Given the description of an element on the screen output the (x, y) to click on. 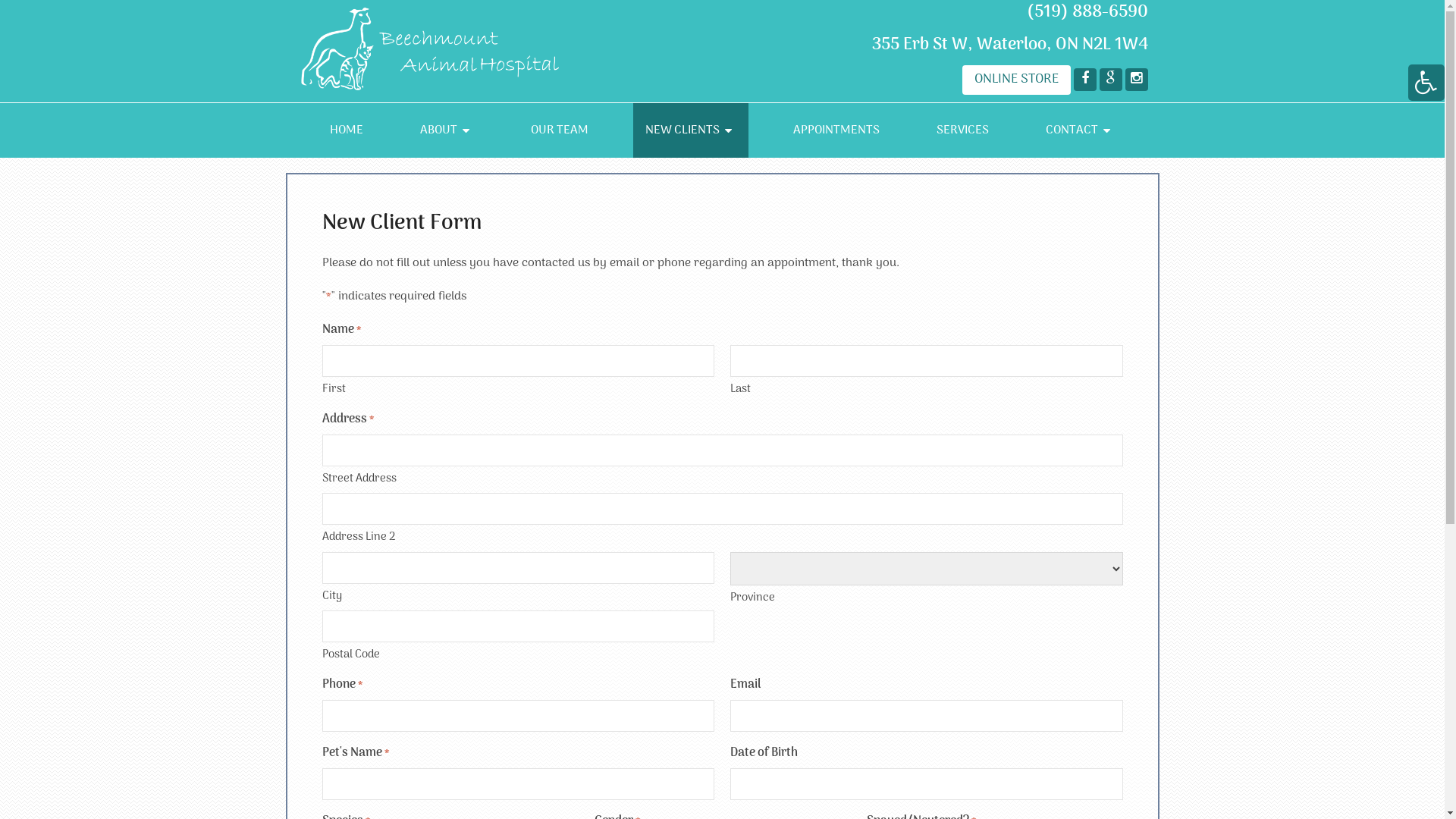
APPOINTMENTS Element type: text (836, 130)
Accessibility Helper sidebar Element type: hover (1426, 82)
HOME Element type: text (346, 130)
ONLINE STORE Element type: text (1015, 79)
ABOUT Element type: text (446, 130)
SERVICES Element type: text (962, 130)
355 Erb St W, Waterloo, ON N2L 1W4 Element type: text (1010, 44)
OUR TEAM Element type: text (559, 130)
CONTACT Element type: text (1079, 130)
NEW CLIENTS Element type: text (690, 130)
